Given the description of an element on the screen output the (x, y) to click on. 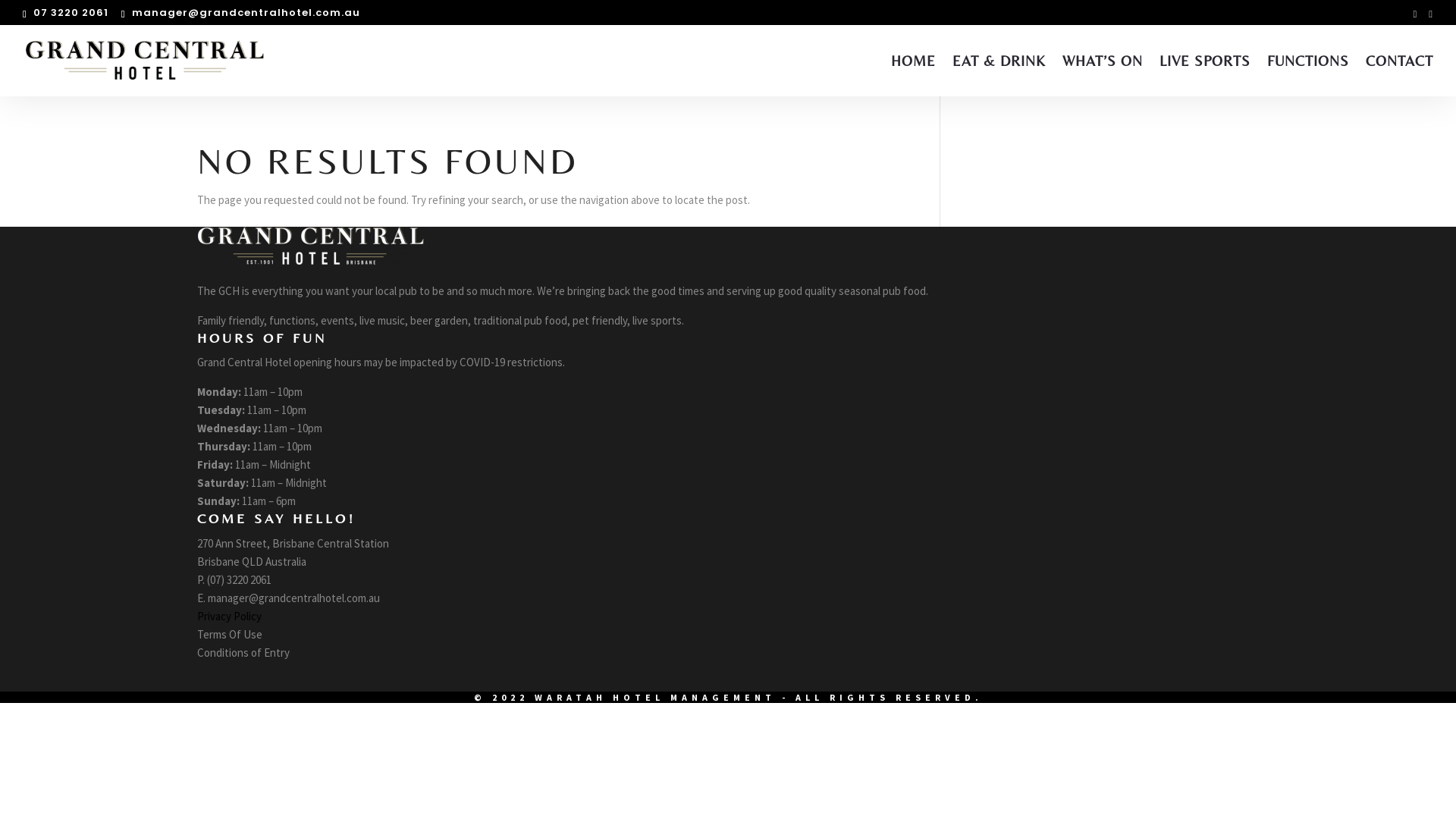
HOME Element type: text (913, 74)
EAT & DRINK Element type: text (998, 74)
manager@grandcentralhotel.com.au Element type: text (240, 12)
FUNCTIONS Element type: text (1308, 74)
WARATAH HOTEL MANAGEMENT Element type: text (654, 696)
LIVE SPORTS Element type: text (1204, 74)
Privacy Policy Element type: text (229, 615)
CONTACT Element type: text (1399, 74)
